Given the description of an element on the screen output the (x, y) to click on. 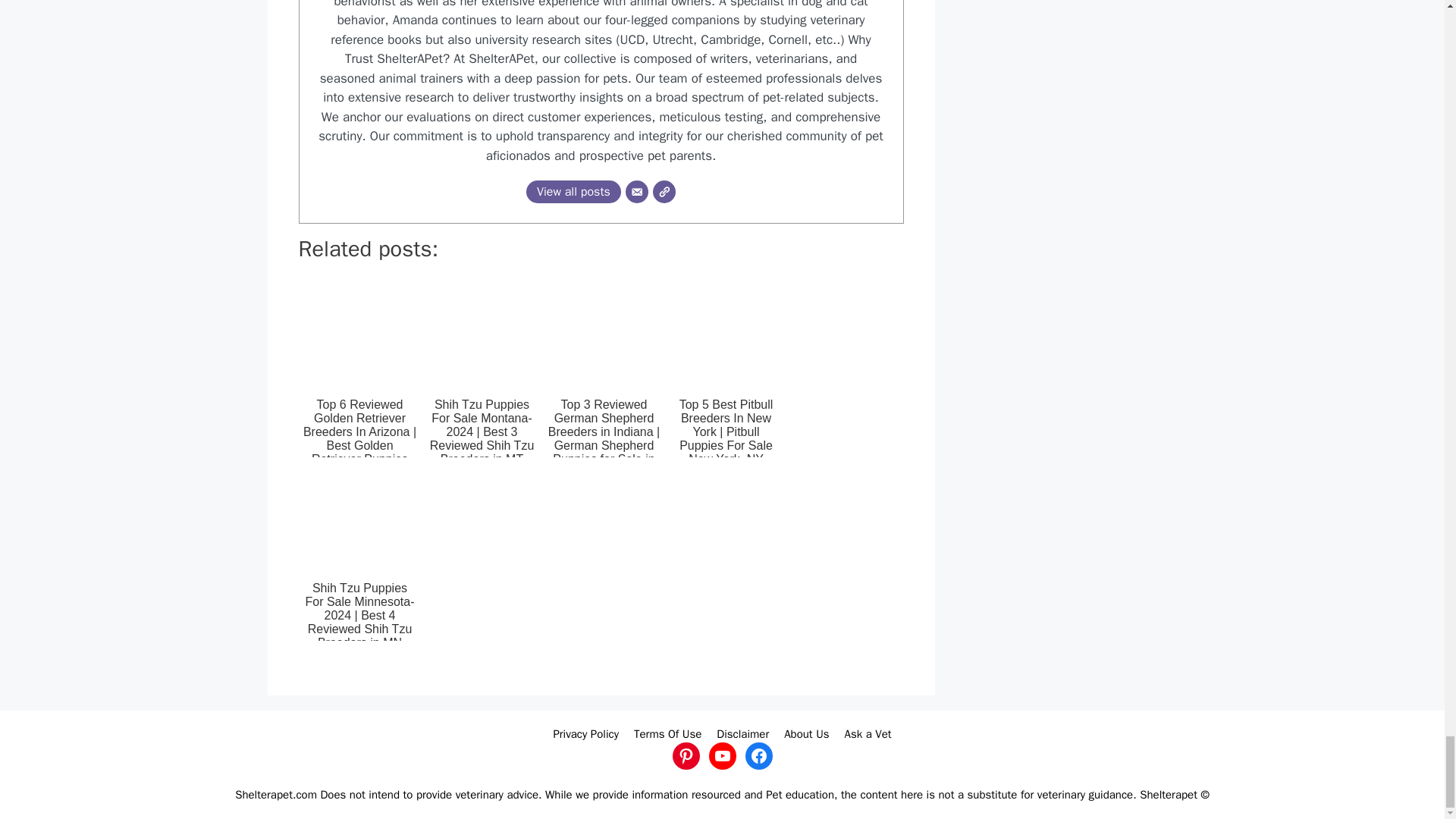
View all posts (573, 191)
View all posts (573, 191)
